Given the description of an element on the screen output the (x, y) to click on. 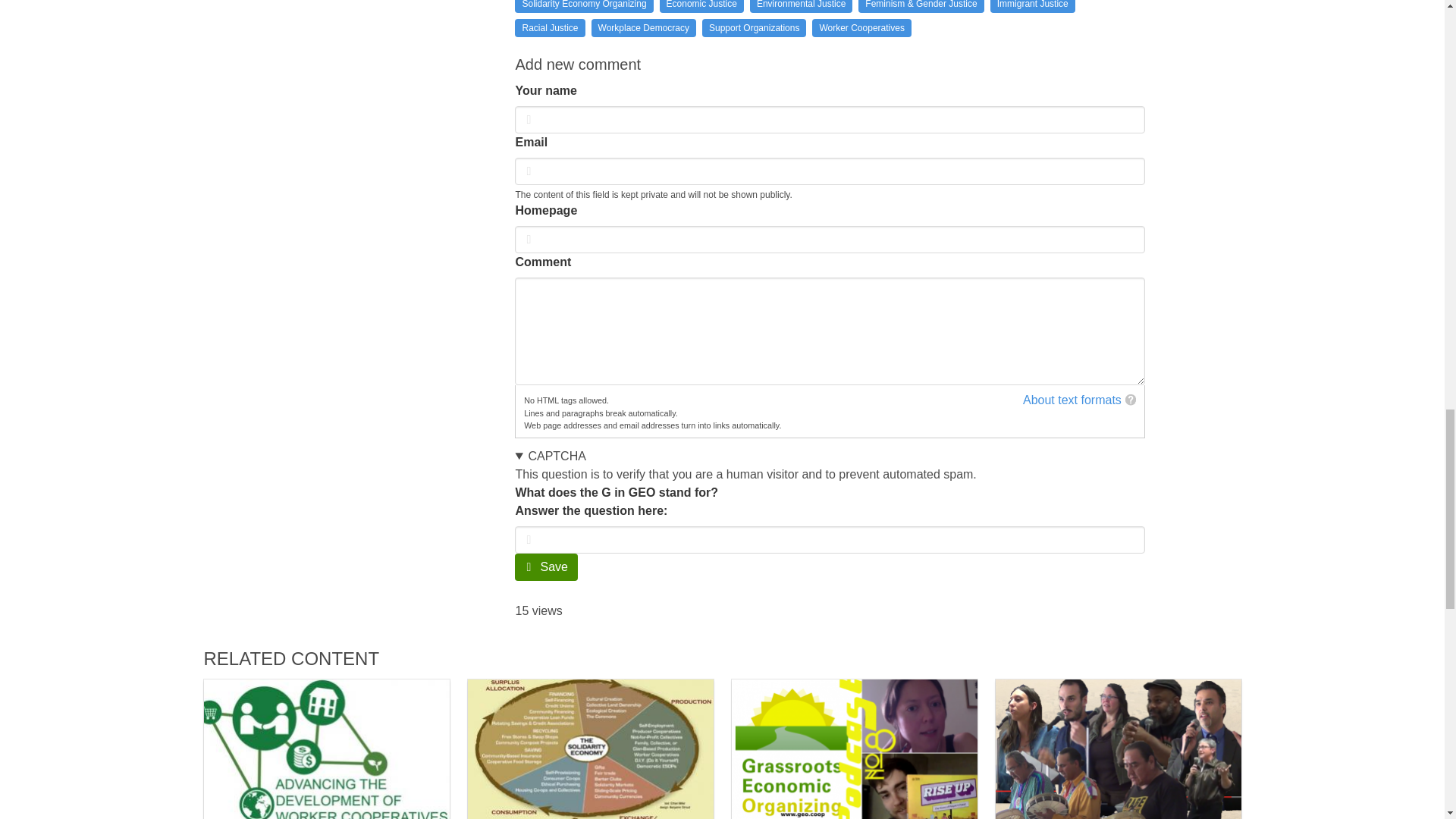
Economic Justice (701, 6)
Solidarity Economy Organizing (583, 6)
Immigrant Justice (1032, 6)
Environmental Justice (800, 6)
